Given the description of an element on the screen output the (x, y) to click on. 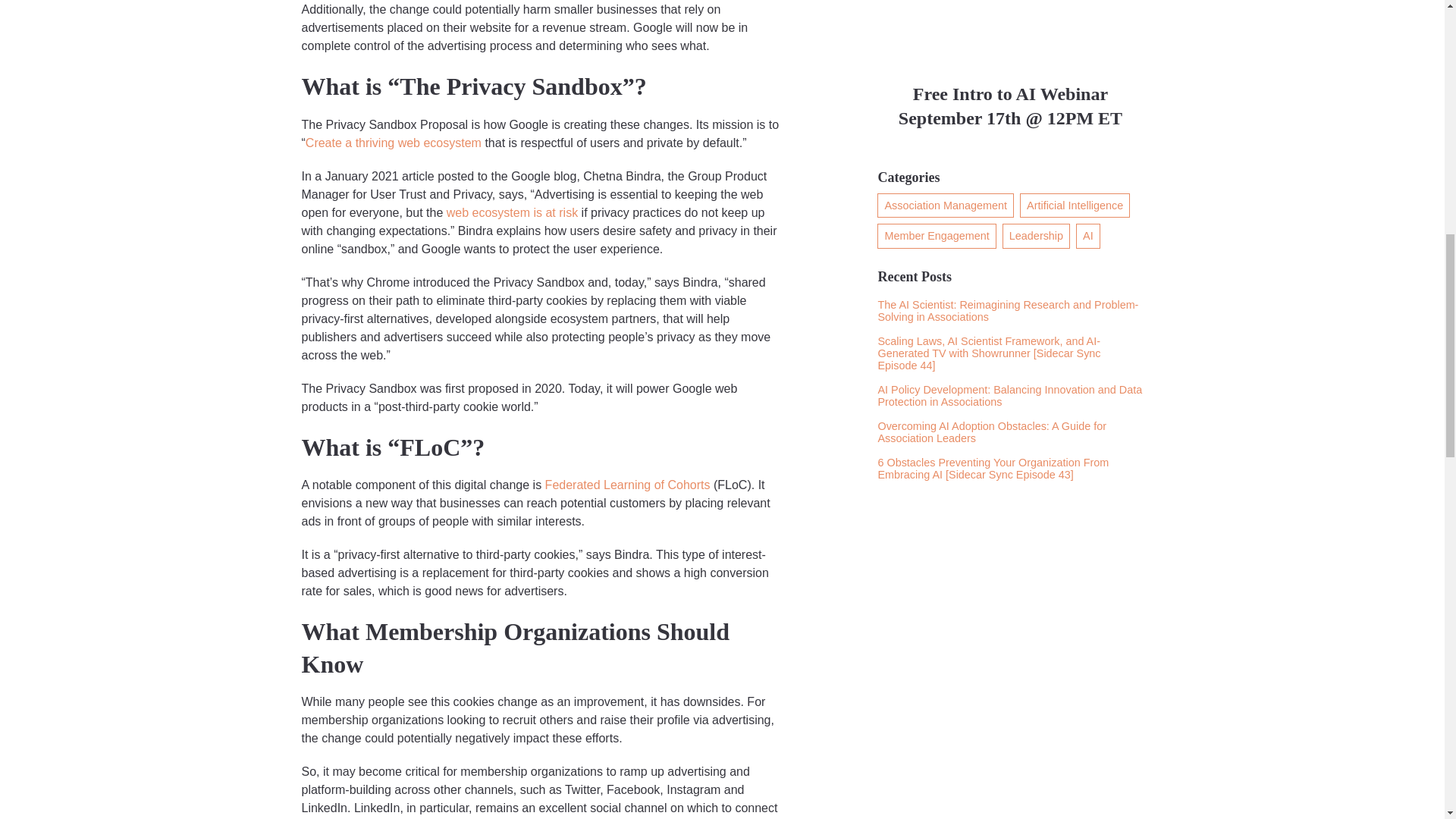
 Federated Learning of Cohorts (625, 484)
 web ecosystem is at risk (510, 212)
Create a thriving web ecosystem (393, 142)
